Given the description of an element on the screen output the (x, y) to click on. 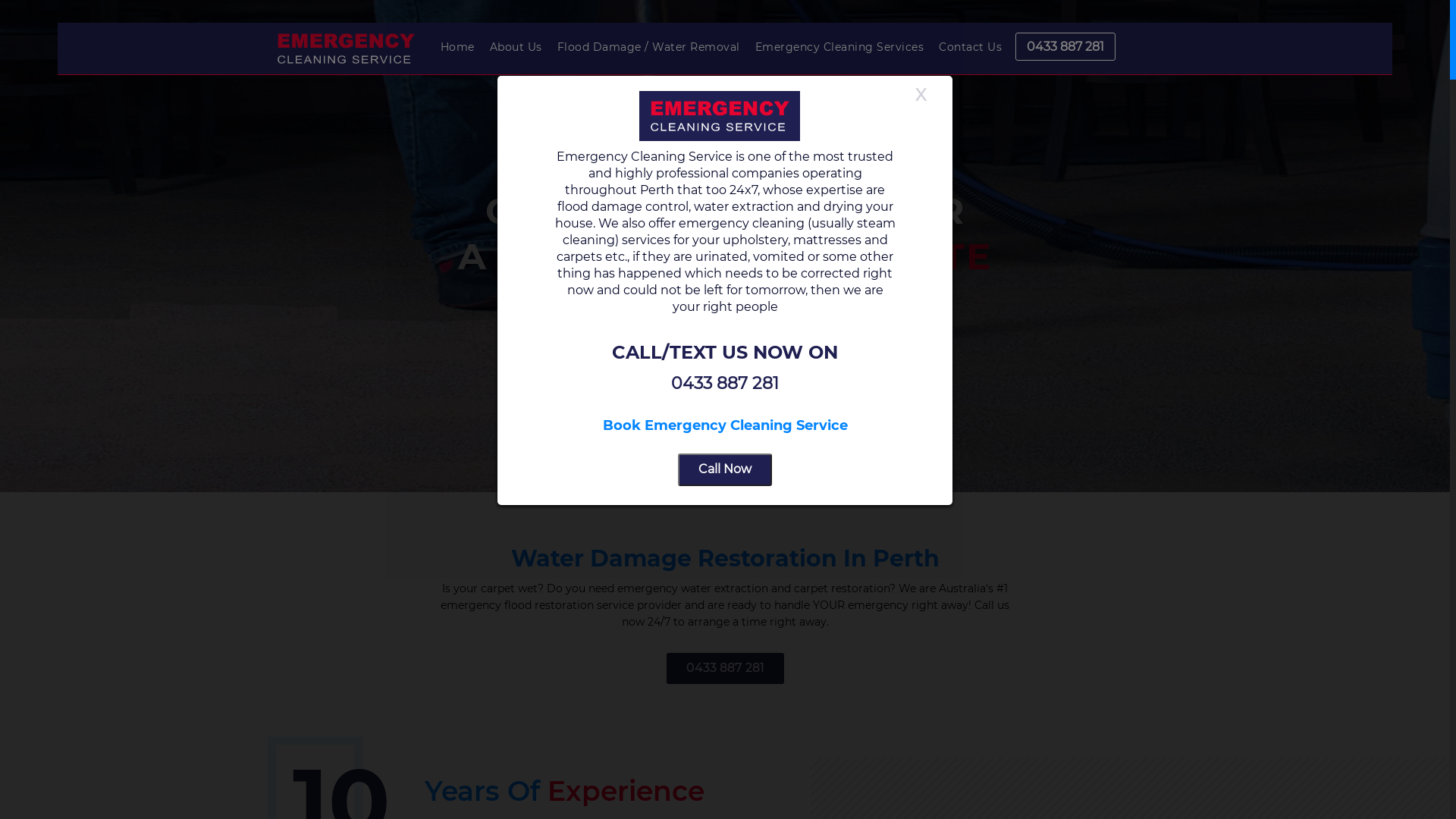
0433 887 281 Element type: text (724, 668)
0433 887 281 Element type: text (1065, 46)
Call Now Element type: text (724, 469)
Emergency Cleaning Services Element type: text (839, 46)
Call Now Element type: text (724, 467)
About Us Element type: text (515, 46)
Contact Us Element type: text (970, 46)
Flood Damage / Water Removal Element type: text (648, 46)
0433 887 281 Element type: text (724, 668)
Home Element type: text (457, 46)
X Element type: text (920, 95)
0433 887 281 Element type: text (724, 383)
